Given the description of an element on the screen output the (x, y) to click on. 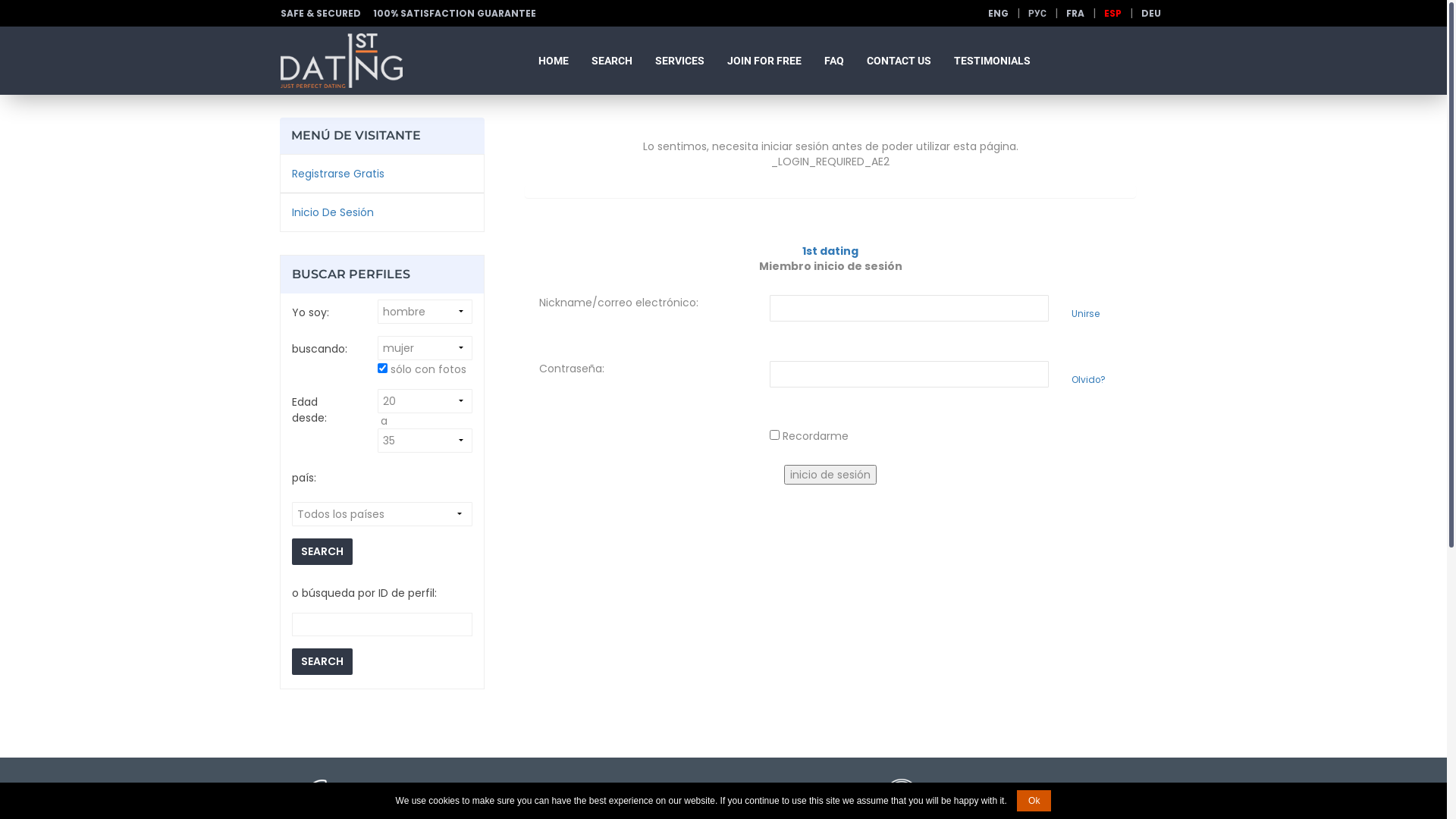
FRA Element type: text (1074, 13)
TESTIMONIALS Element type: text (991, 60)
Unirse Element type: text (1097, 313)
Registrarse Gratis Element type: text (337, 173)
1st dating Element type: text (830, 250)
FAQ Element type: text (833, 60)
ENG Element type: text (997, 13)
SERVICES Element type: text (679, 60)
SEARCH Element type: text (611, 60)
JOIN FOR FREE Element type: text (763, 60)
CONTACT US Element type: text (898, 60)
DEU Element type: text (1150, 13)
Search Element type: text (321, 551)
Ok Element type: text (1033, 800)
Search Element type: text (321, 661)
HOME Element type: text (553, 60)
Olvido? Element type: text (1097, 379)
SAFE & SECURED Element type: text (326, 13)
100% SATISFACTION GUARANTEE Element type: text (460, 13)
1st-dating logo Element type: hover (341, 60)
